Given the description of an element on the screen output the (x, y) to click on. 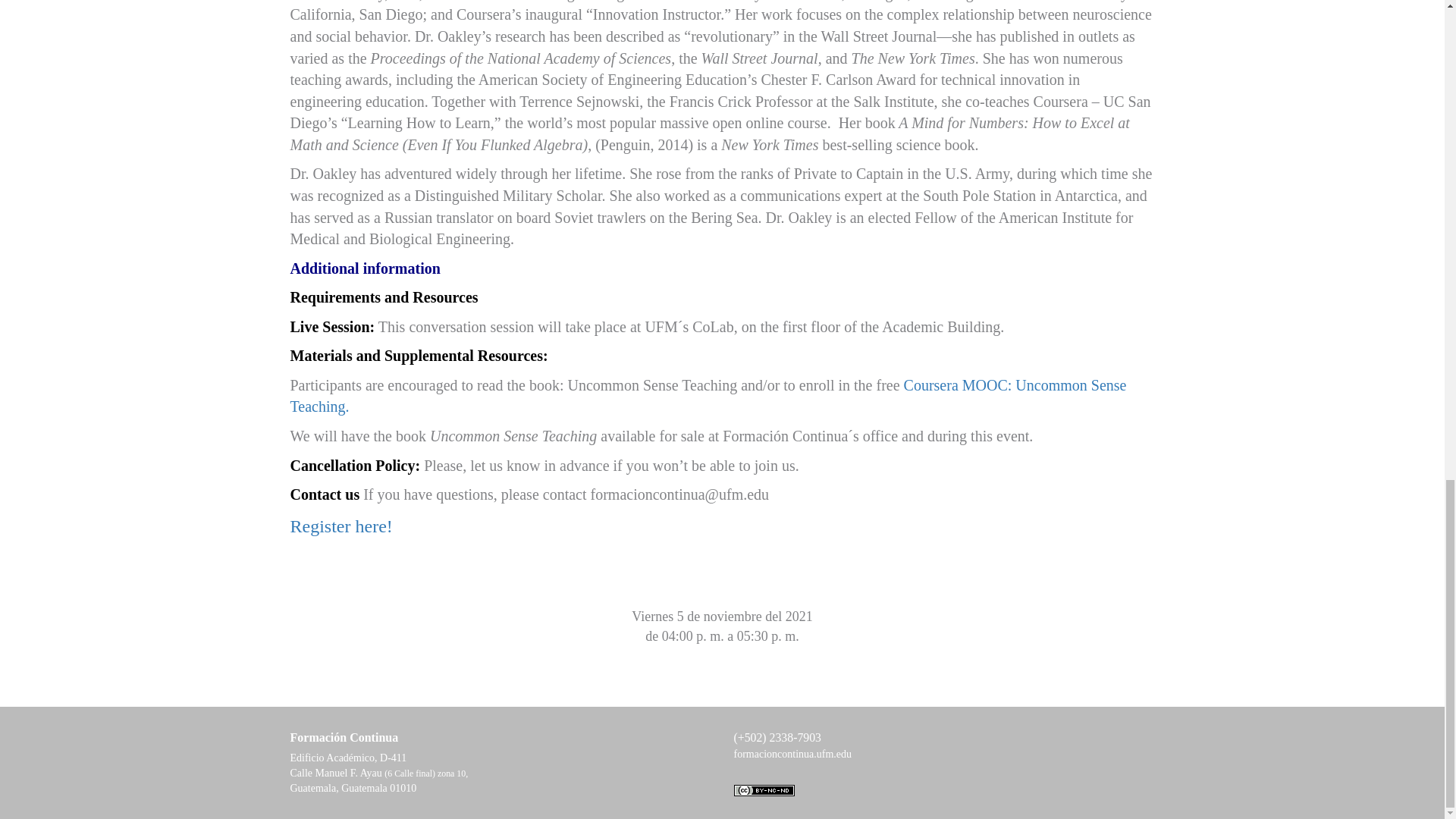
Register here! (340, 526)
formacioncontinua.ufm.edu (792, 754)
Coursera MOOC: Uncommon Sense Teaching.  (707, 395)
